Given the description of an element on the screen output the (x, y) to click on. 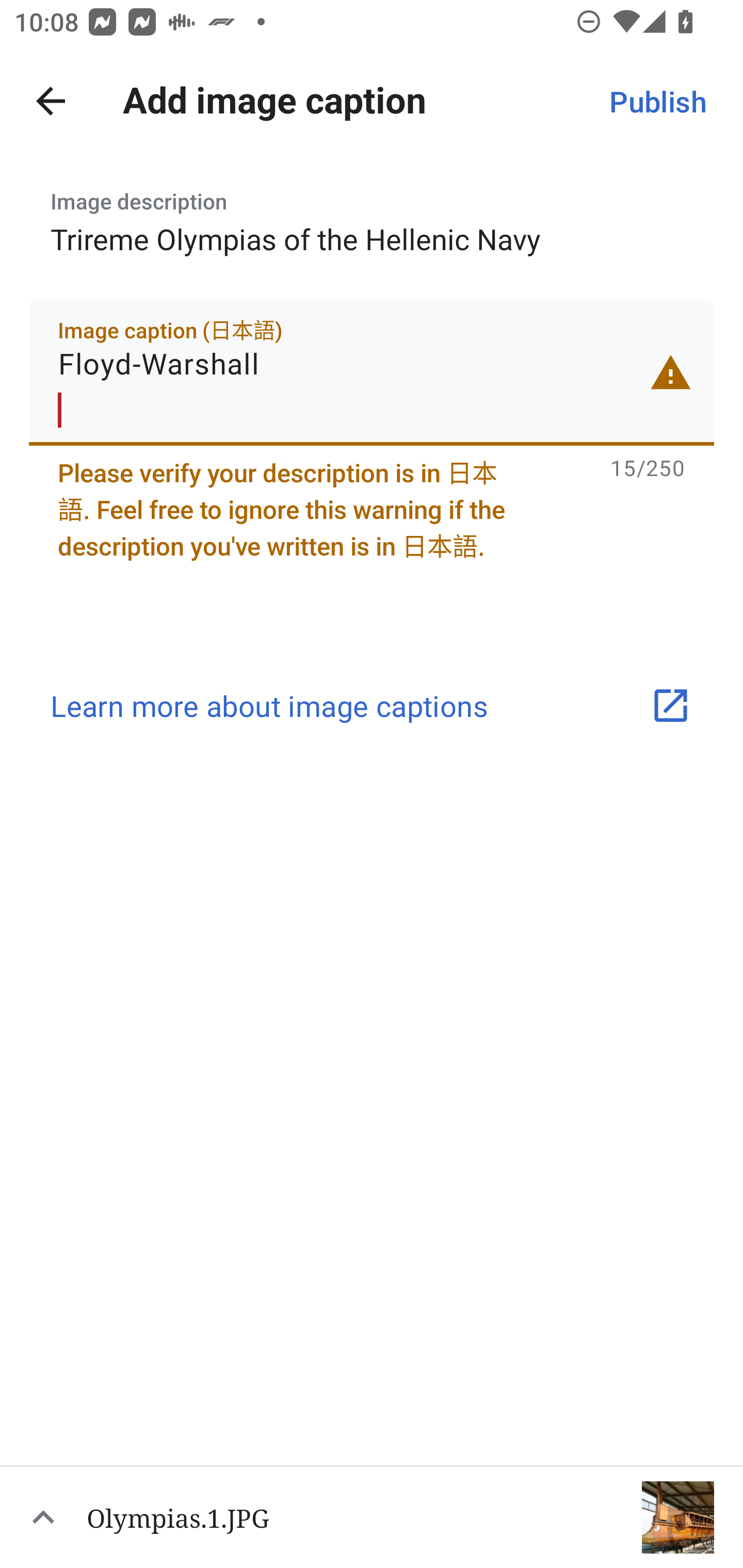
Cancel (50, 101)
Publish (657, 101)
Floyd-Warshall
 (371, 372)
Learn more about image captions (371, 705)
Olympias.1.JPG (371, 1516)
